Given the description of an element on the screen output the (x, y) to click on. 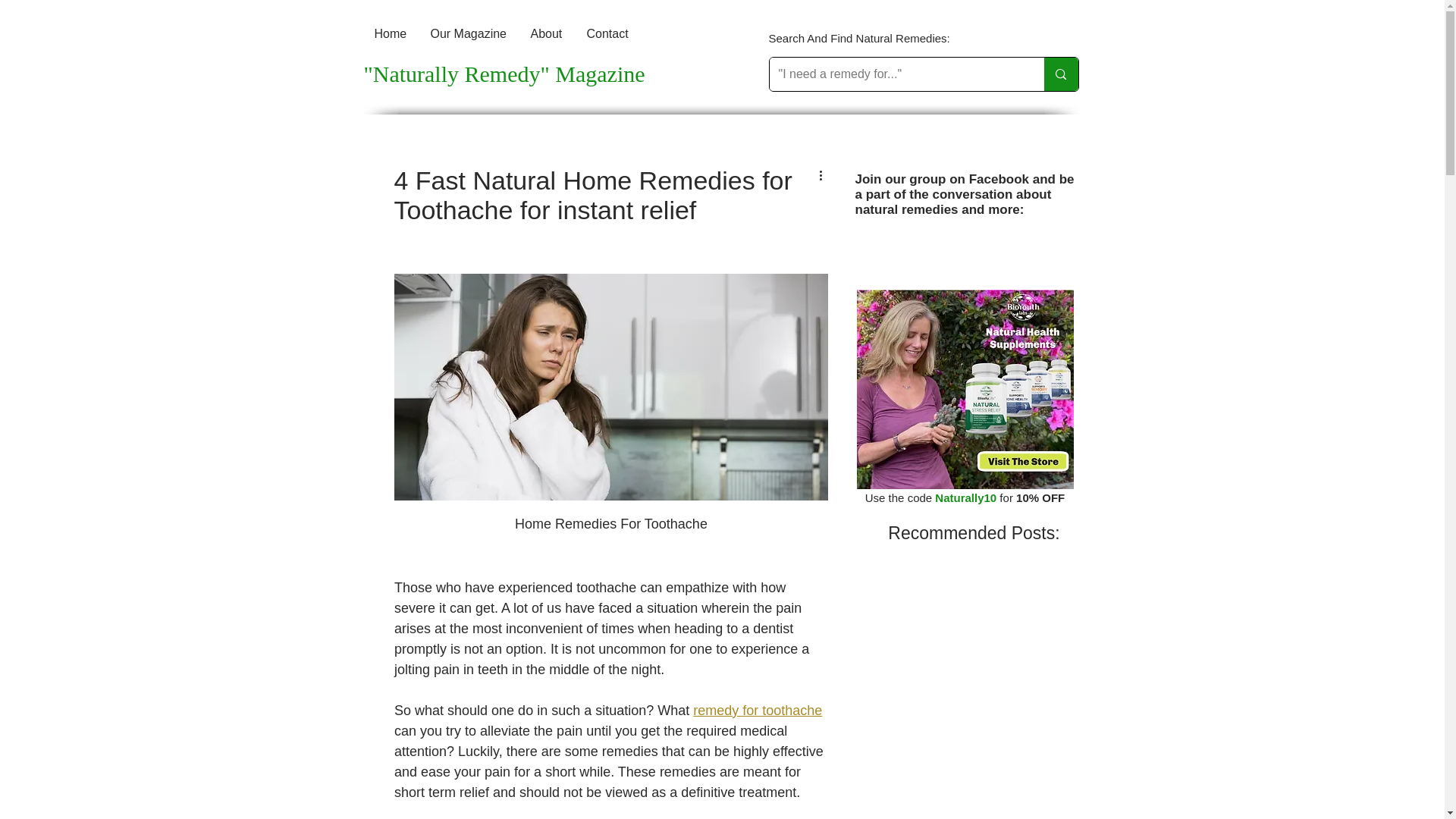
Contact (609, 33)
Our Magazine (469, 33)
About (547, 33)
"Naturally Remedy"  (460, 73)
Home (392, 33)
remedy for toothache (757, 710)
Search And Find Natural Remedies:  (860, 38)
